Given the description of an element on the screen output the (x, y) to click on. 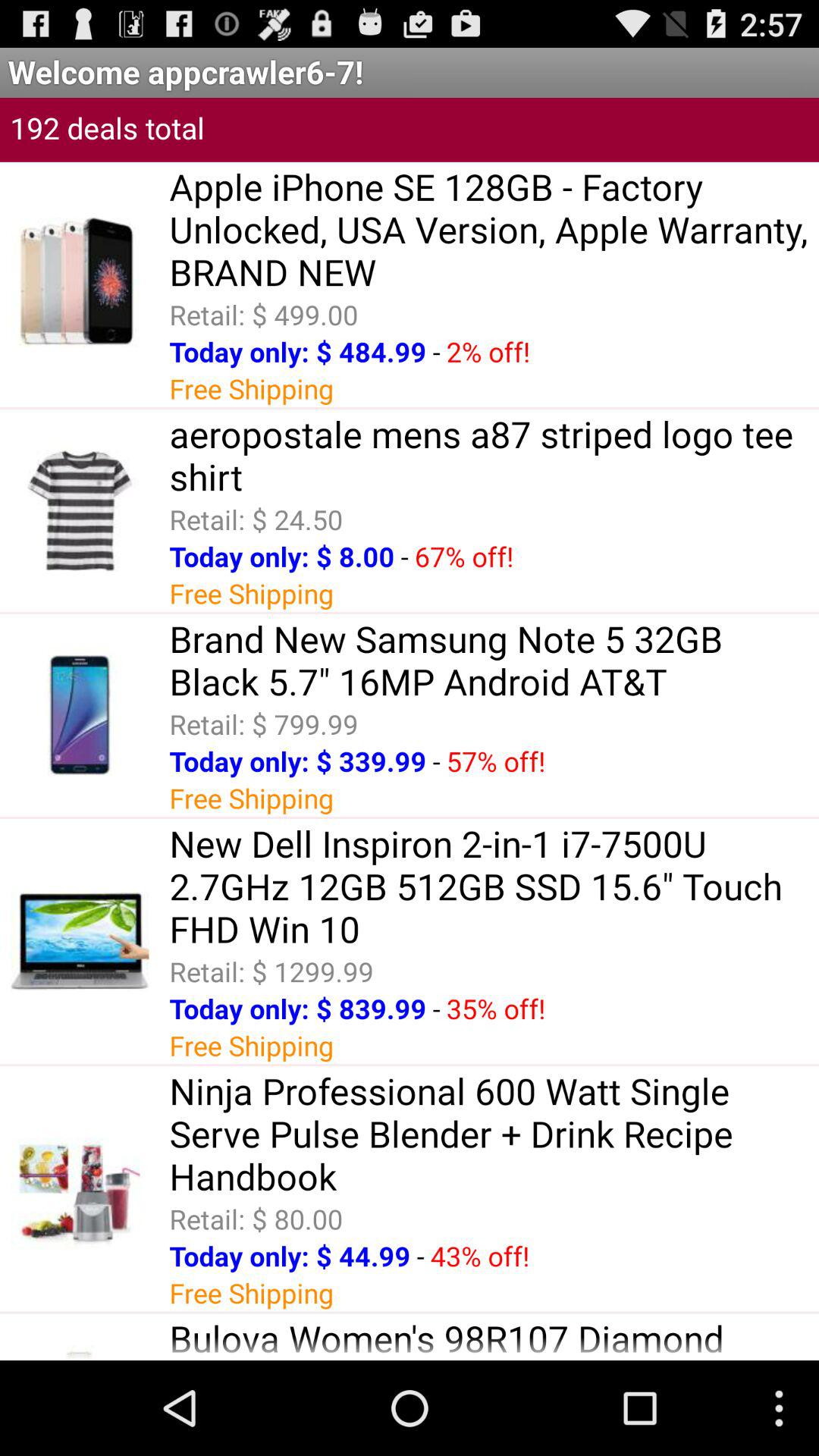
jump until - (436, 760)
